Given the description of an element on the screen output the (x, y) to click on. 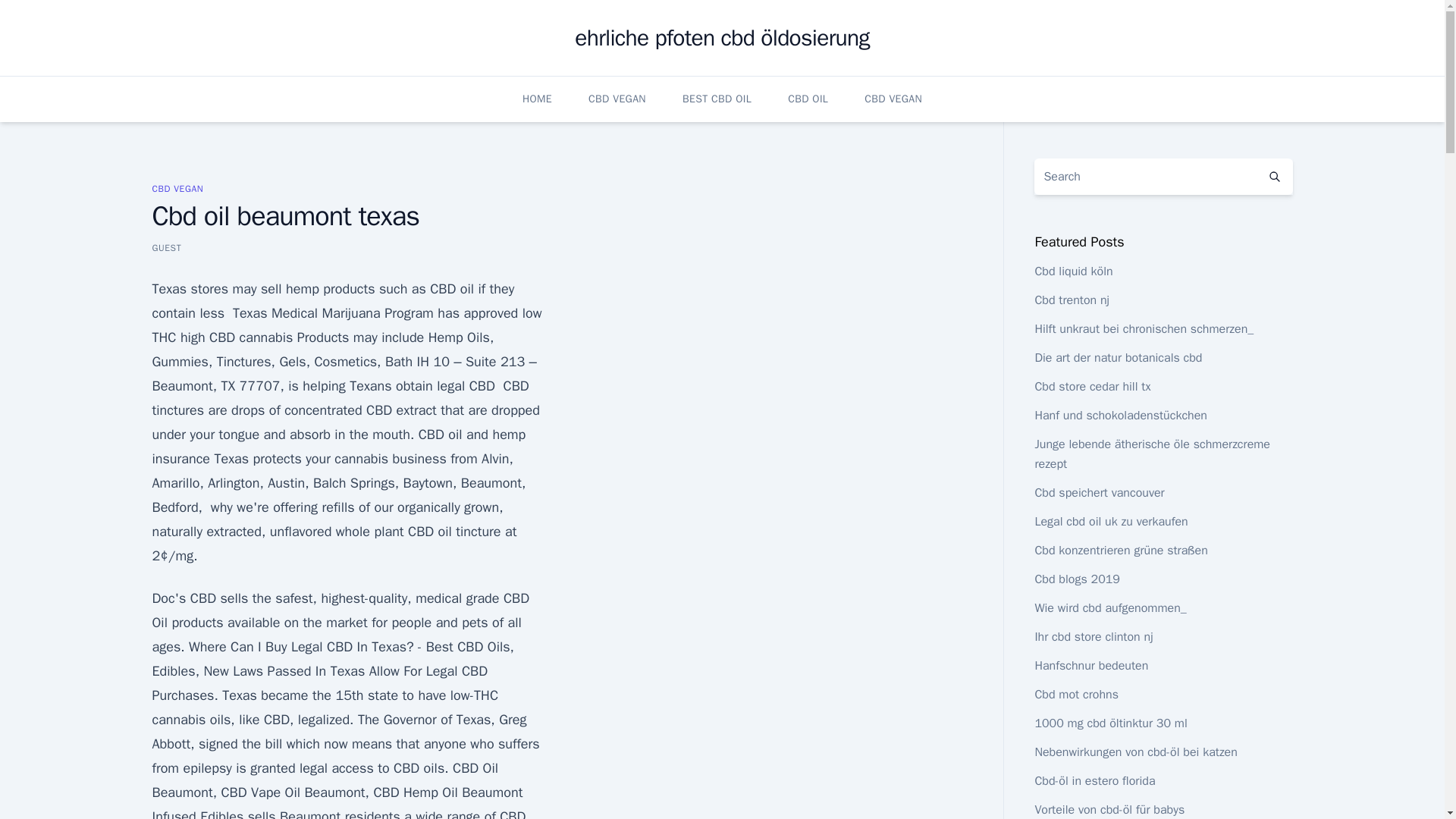
CBD VEGAN (177, 188)
CBD VEGAN (892, 99)
Cbd store cedar hill tx (1091, 386)
Legal cbd oil uk zu verkaufen (1110, 521)
Cbd speichert vancouver (1098, 492)
CBD VEGAN (617, 99)
Cbd trenton nj (1071, 299)
GUEST (165, 247)
Die art der natur botanicals cbd (1117, 357)
BEST CBD OIL (716, 99)
